Given the description of an element on the screen output the (x, y) to click on. 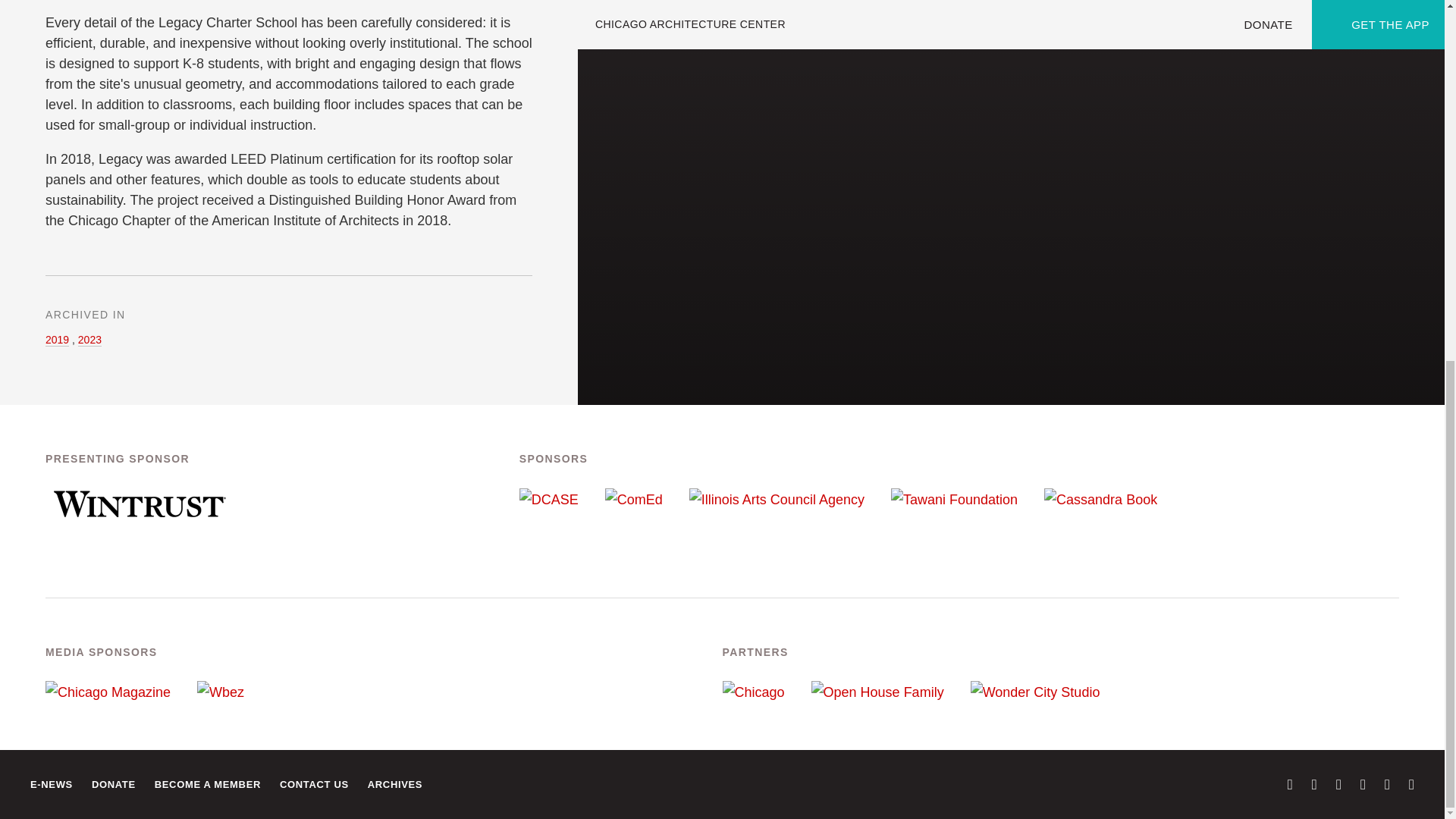
BECOME A MEMBER (207, 784)
2023 (89, 339)
2019 (56, 339)
E-NEWS (51, 784)
CONTACT US (314, 784)
ARCHIVES (395, 784)
DONATE (113, 784)
